Given the description of an element on the screen output the (x, y) to click on. 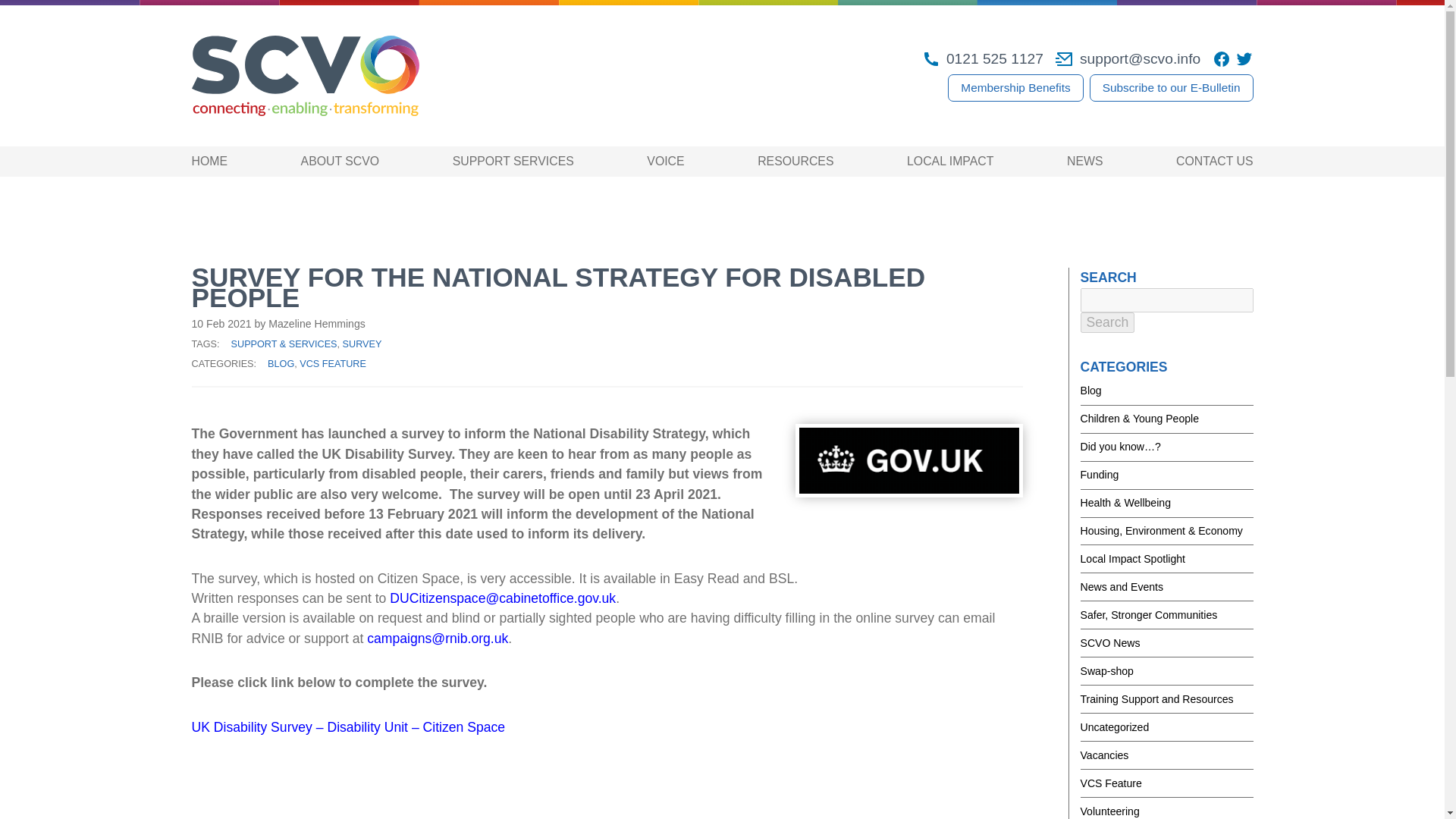
SUPPORT SERVICES (512, 160)
0121 525 1127 (982, 58)
HOME (208, 160)
VOICE (665, 160)
Subscribe to our E-Bulletin (1171, 87)
Membership Benefits (1015, 87)
RESOURCES (794, 160)
